Given the description of an element on the screen output the (x, y) to click on. 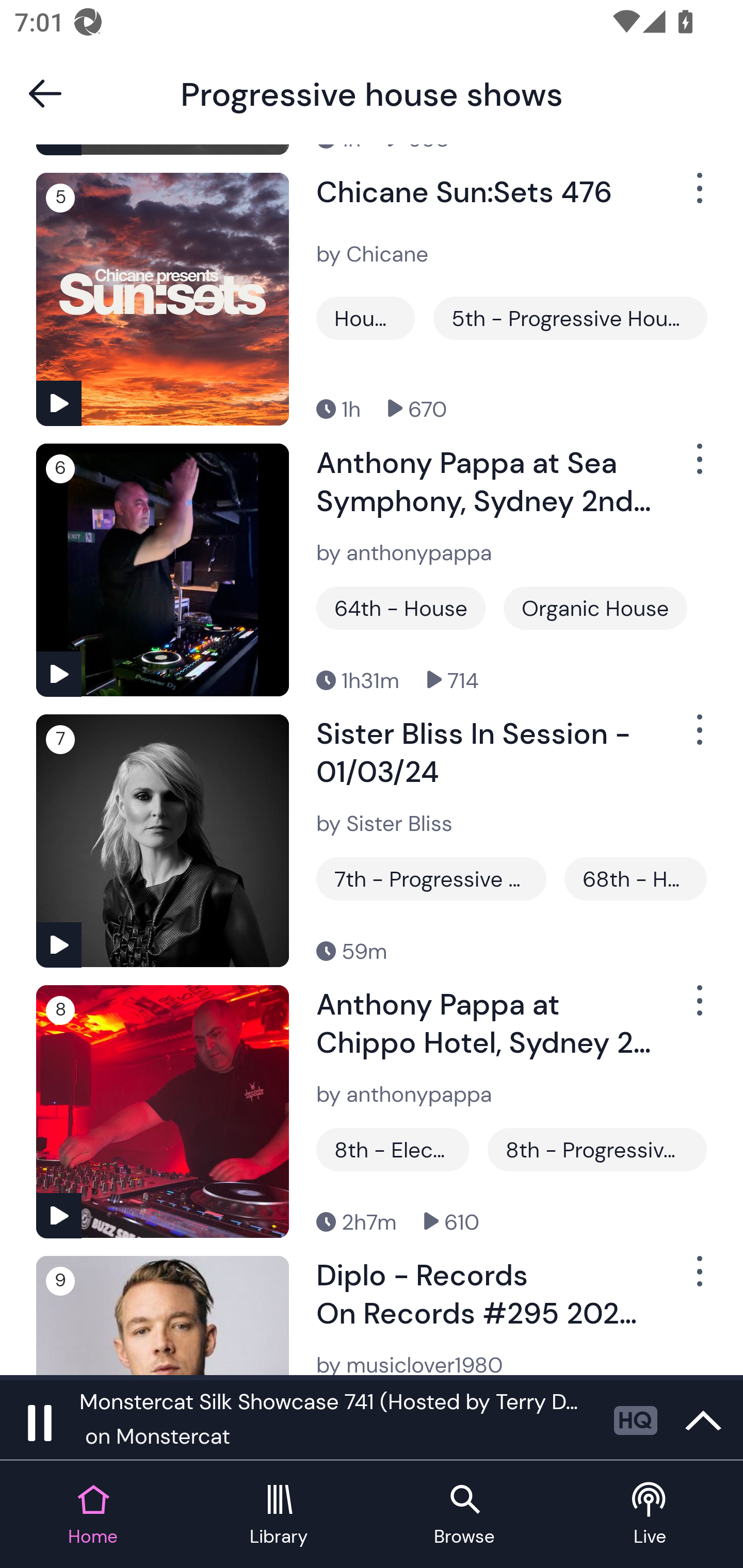
Show Options Menu Button (697, 195)
House (365, 318)
5th - Progressive House (569, 318)
Show Options Menu Button (697, 466)
64th - House (400, 608)
Organic House (595, 608)
Show Options Menu Button (697, 738)
7th - Progressive House (431, 878)
68th - House (635, 878)
Show Options Menu Button (697, 1007)
8th - Electronic (392, 1149)
8th - Progressive House (596, 1149)
Show Options Menu Button (697, 1279)
Home tab Home (92, 1515)
Library tab Library (278, 1515)
Browse tab Browse (464, 1515)
Live tab Live (650, 1515)
